Given the description of an element on the screen output the (x, y) to click on. 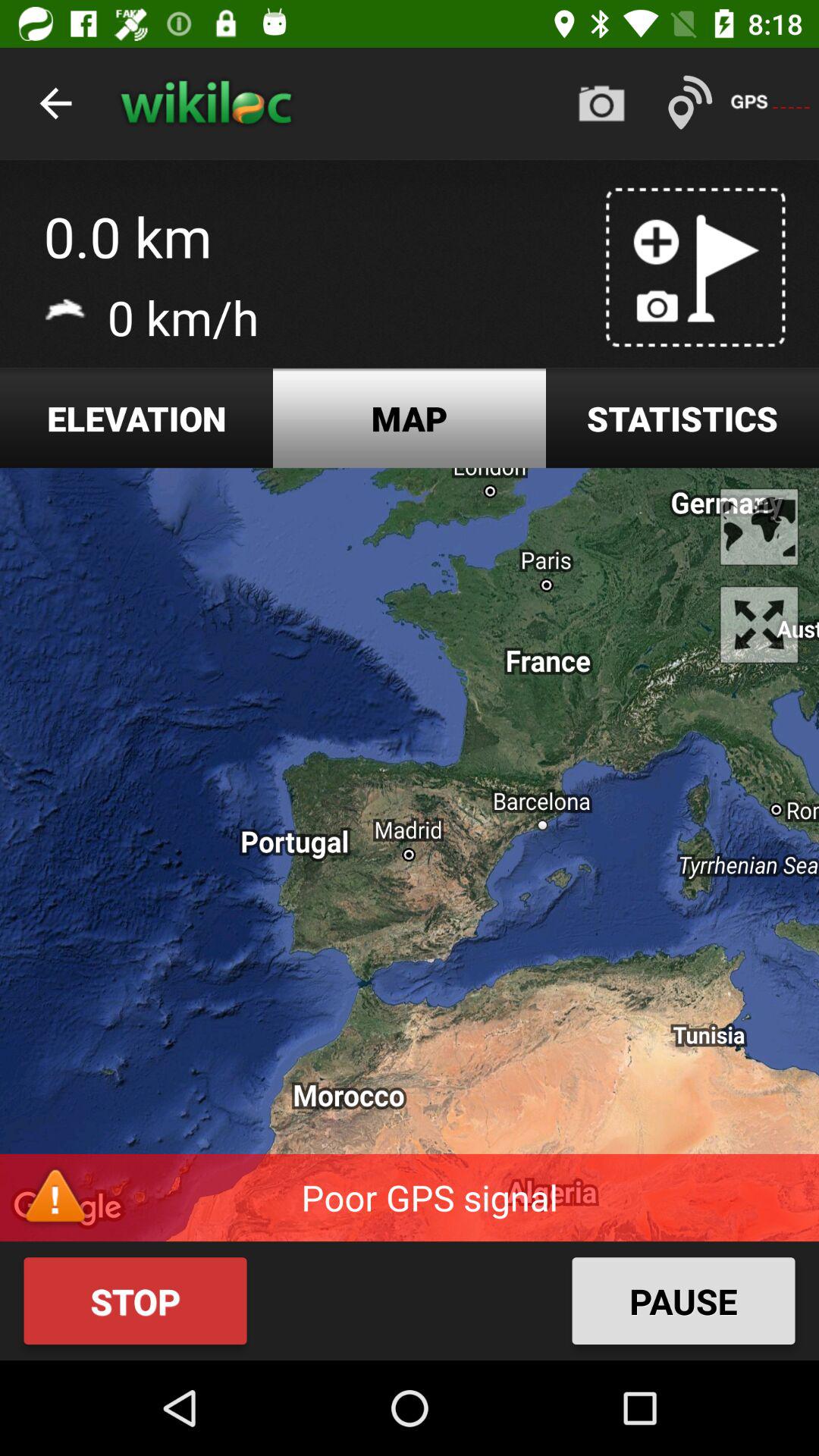
turn on item above the 0.0 km app (55, 103)
